Given the description of an element on the screen output the (x, y) to click on. 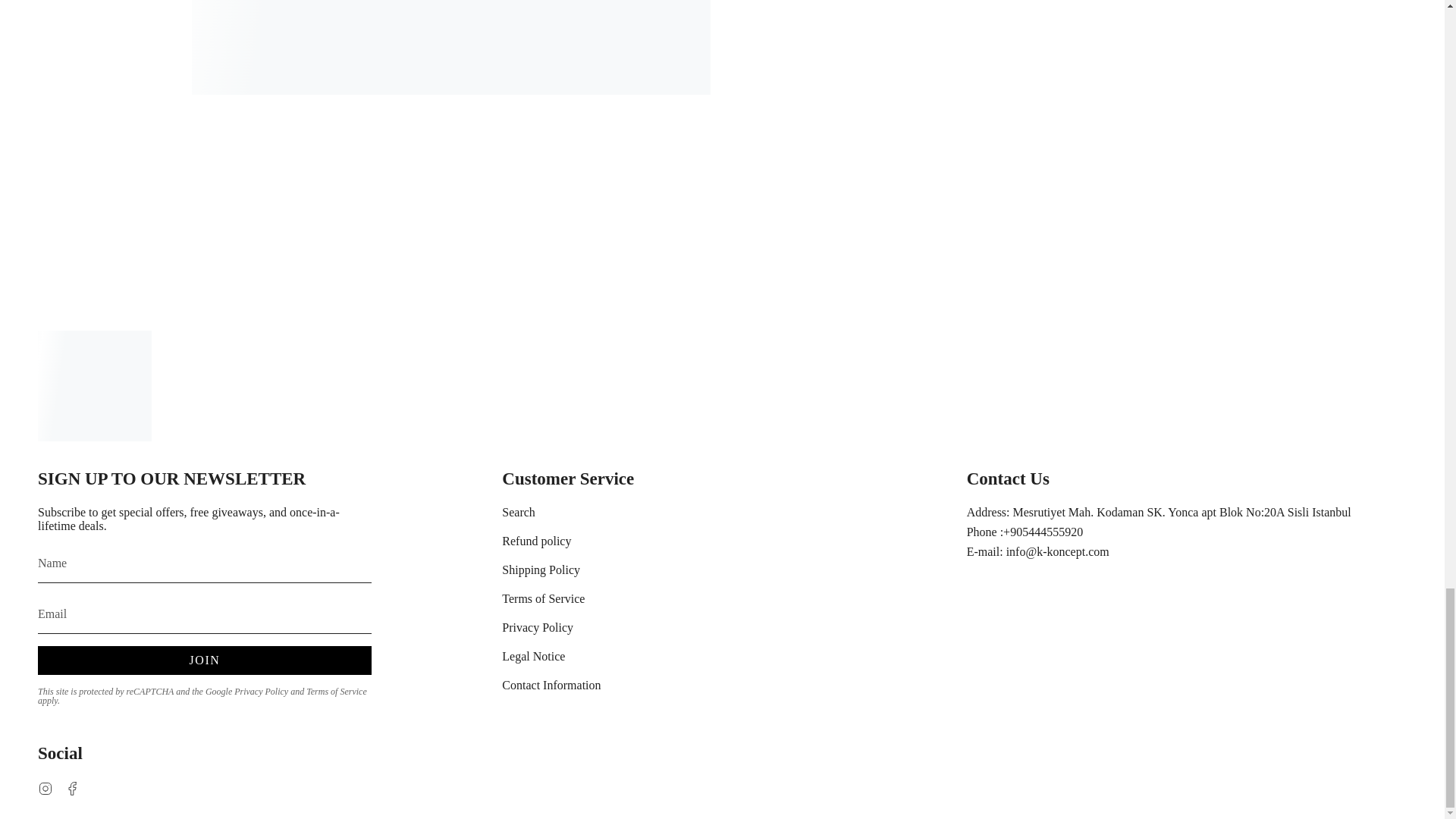
KKoncept  on Instagram (44, 786)
KKoncept  on Facebook (72, 786)
